Given the description of an element on the screen output the (x, y) to click on. 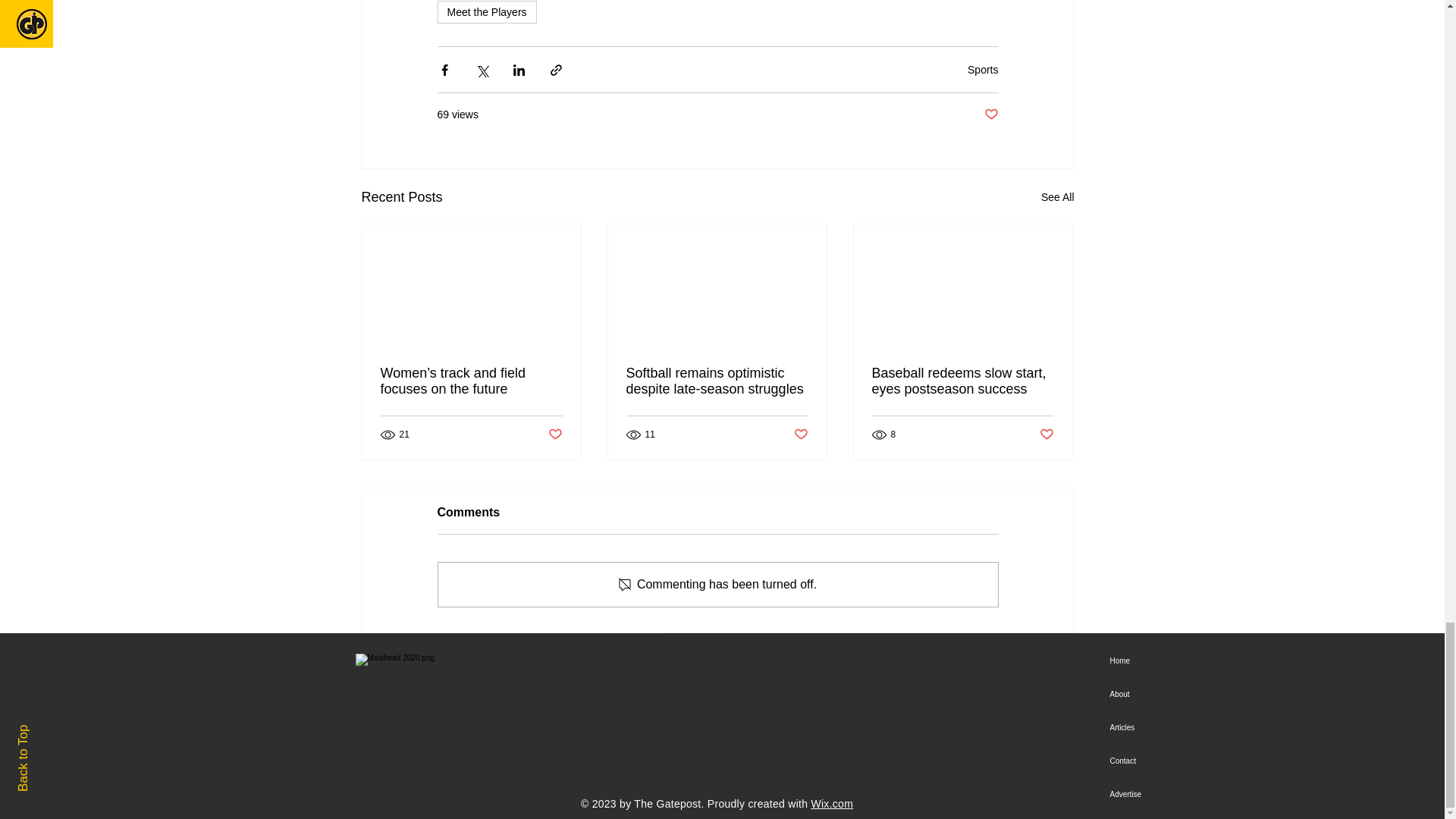
Sports (982, 69)
Meet the Players (485, 11)
Post not marked as liked (1045, 434)
Post not marked as liked (554, 434)
Baseball redeems slow start, eyes postseason success (963, 381)
Post not marked as liked (800, 434)
Softball remains optimistic despite late-season struggles  (717, 381)
See All (1057, 197)
Post not marked as liked (991, 114)
